Given the description of an element on the screen output the (x, y) to click on. 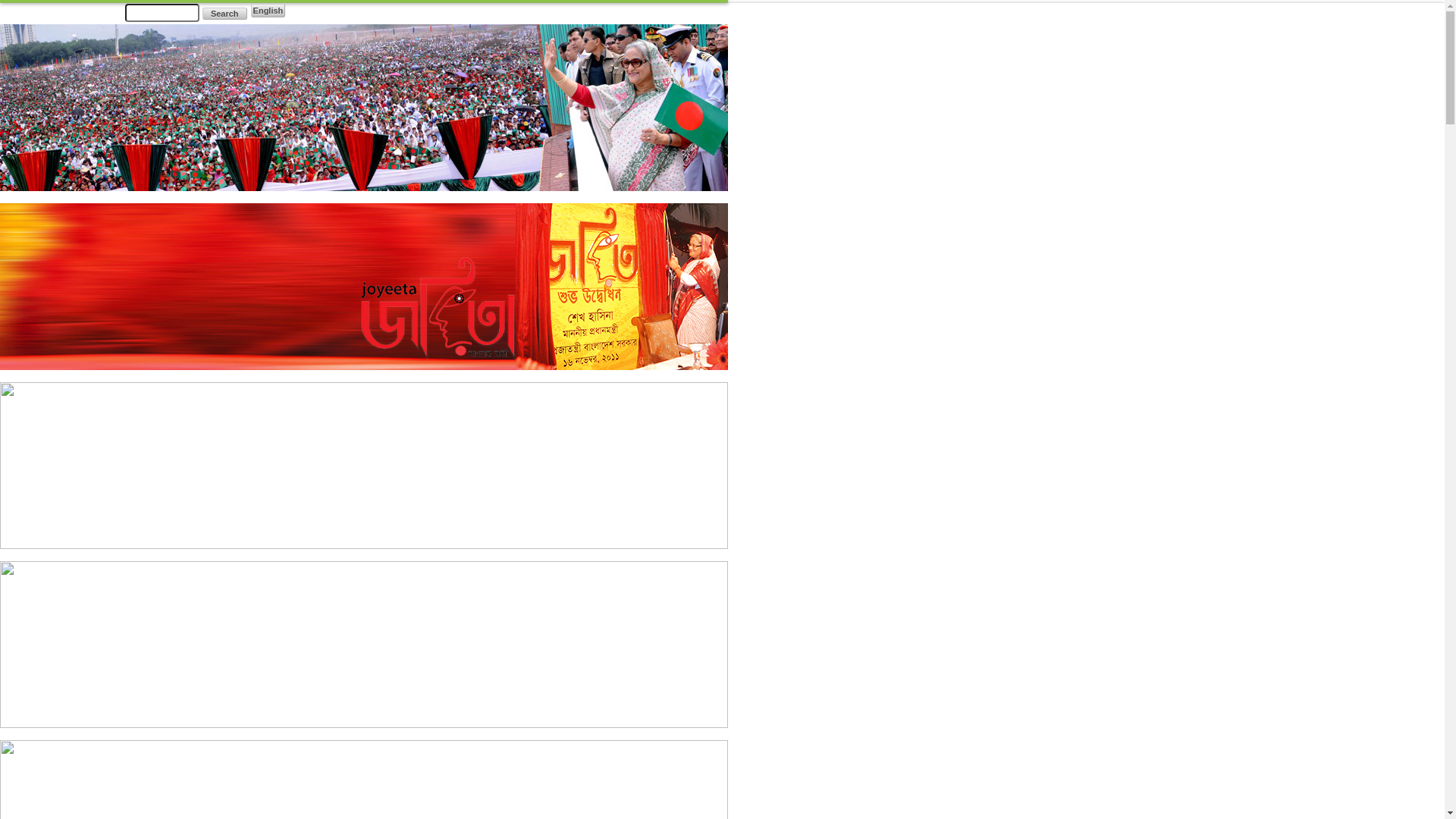
English Element type: text (268, 10)
Search Element type: text (224, 13)
